Given the description of an element on the screen output the (x, y) to click on. 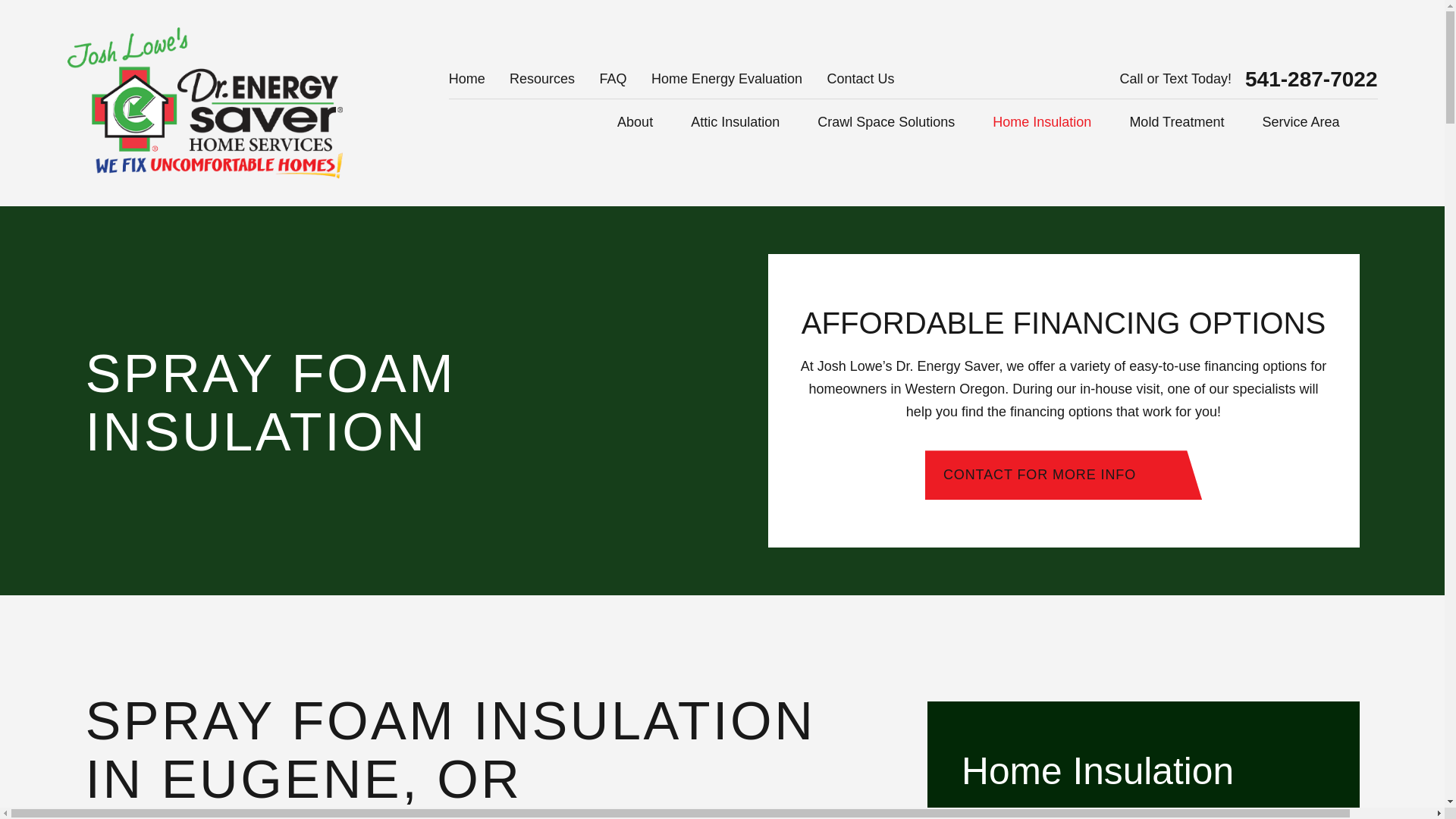
Mold Treatment (1176, 122)
Home Energy Evaluation (726, 78)
Home (204, 102)
FAQ (612, 78)
Attic Insulation (734, 122)
Resources (542, 78)
Crawl Space Solutions (885, 122)
Contact Us (860, 78)
541-287-7022 (1310, 79)
Home Insulation (1041, 122)
Home (466, 78)
About (634, 122)
Josh Lowe's Dr. Energy Saver (204, 103)
